Given the description of an element on the screen output the (x, y) to click on. 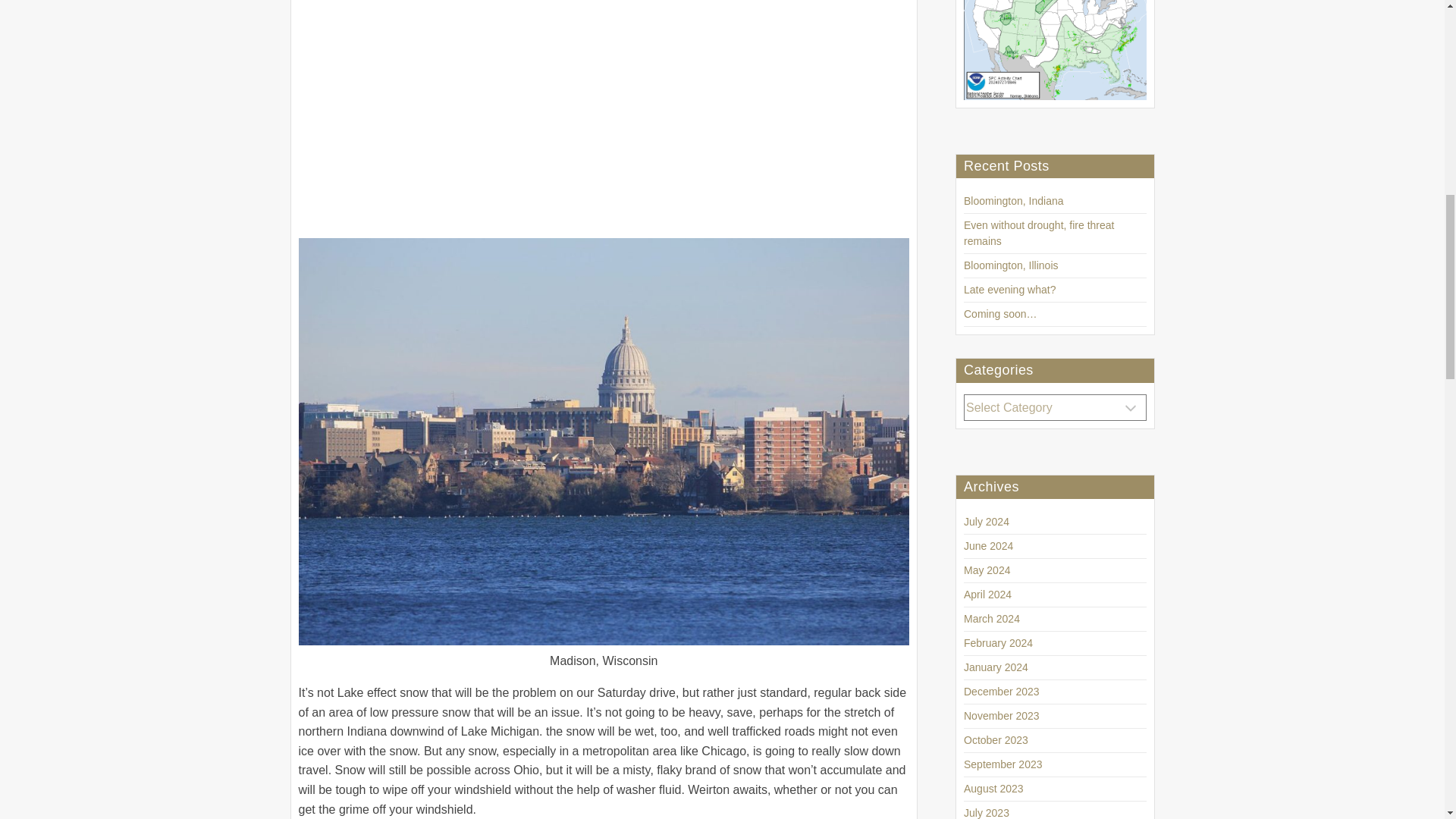
Late evening what? (1009, 289)
September 2023 (1002, 764)
January 2024 (995, 666)
October 2023 (995, 739)
July 2024 (986, 521)
June 2024 (988, 545)
May 2024 (986, 570)
February 2024 (997, 643)
December 2023 (1001, 691)
November 2023 (1001, 715)
Even without drought, fire threat remains (1038, 233)
April 2024 (987, 594)
Bloomington, Illinois (1010, 265)
Bloomington, Indiana (1013, 200)
March 2024 (991, 618)
